Given the description of an element on the screen output the (x, y) to click on. 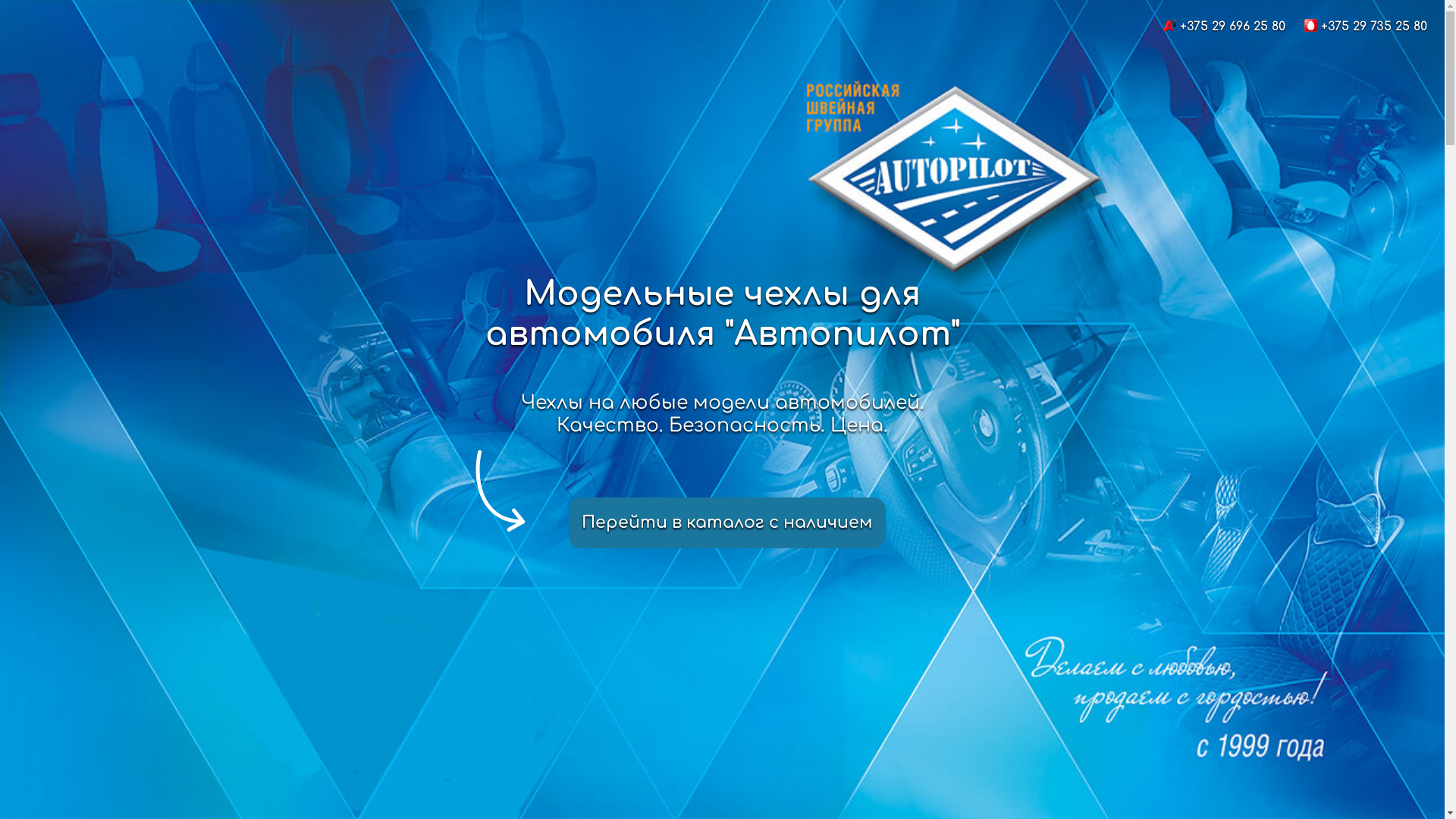
+375 29 696 25 80 Element type: text (1232, 26)
+375 29 735 25 80 Element type: text (1374, 26)
